Given the description of an element on the screen output the (x, y) to click on. 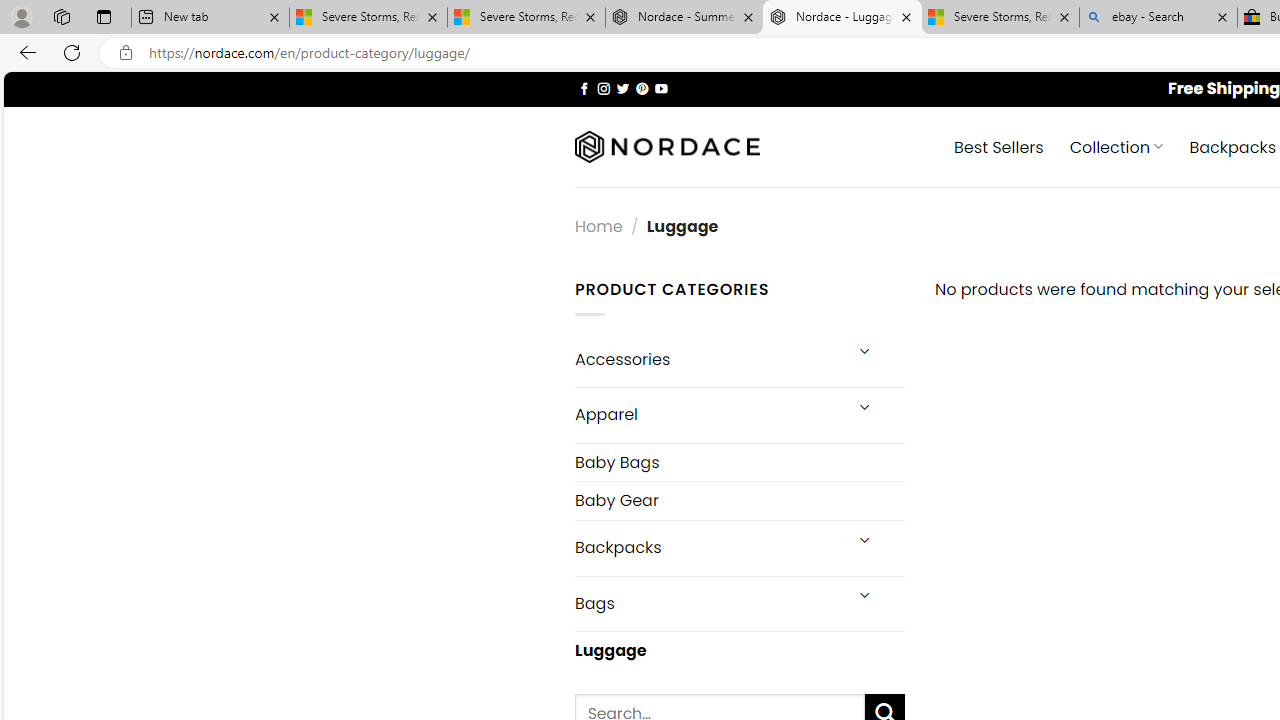
Nordace - Luggage (842, 17)
Baby Gear (739, 500)
Baby Bags (739, 461)
 Best Sellers (998, 146)
Baby Gear (739, 499)
View site information (125, 53)
Personal Profile (21, 16)
Baby Bags (739, 461)
Workspaces (61, 16)
  Best Sellers (998, 146)
Close tab (1222, 16)
Back (24, 52)
